Given the description of an element on the screen output the (x, y) to click on. 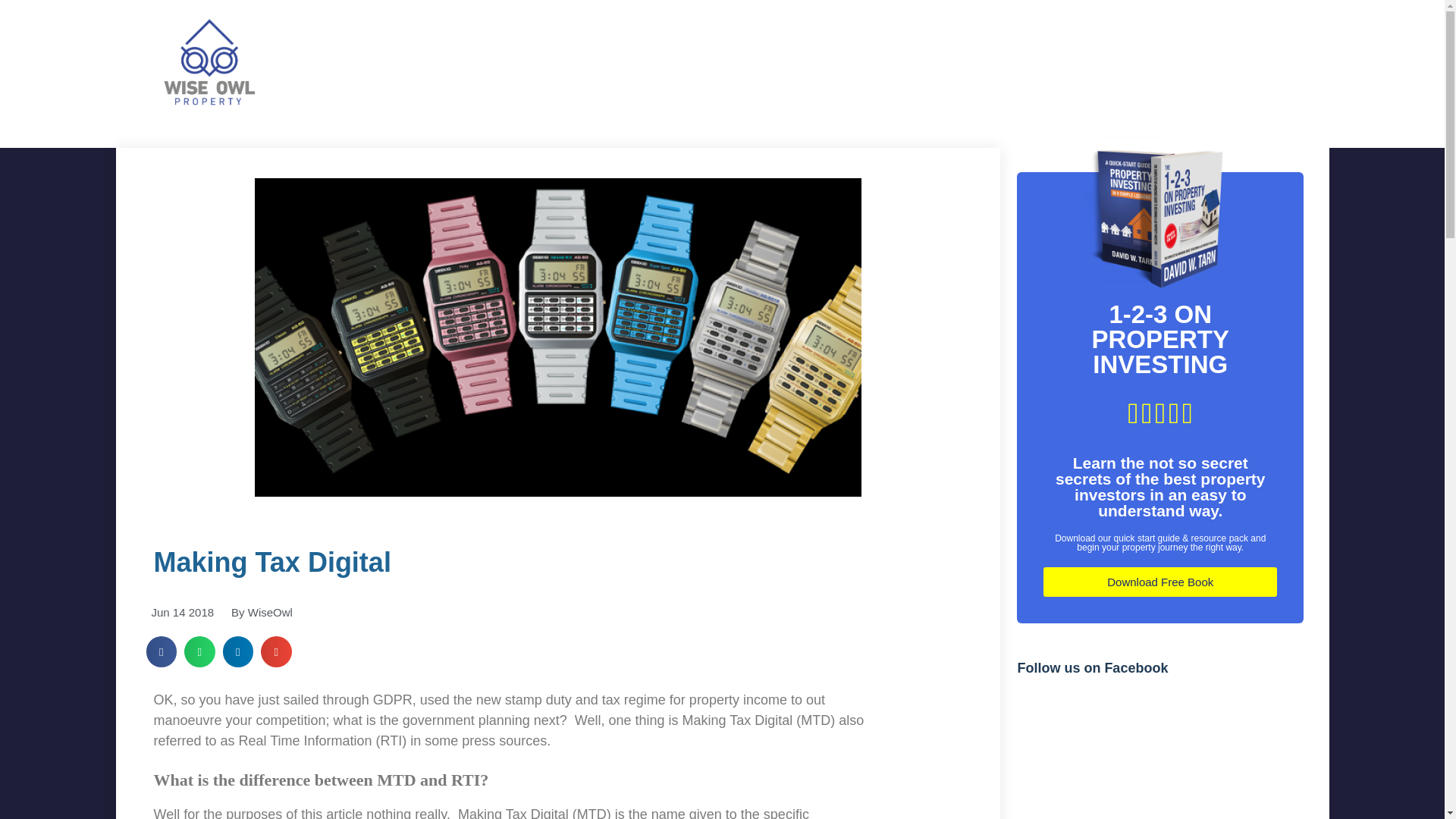
WiseOwl Property Training (232, 123)
Download Free Book (1159, 582)
WiseOwl Property Training (232, 123)
WiseOwl Property Training (207, 60)
